Given the description of an element on the screen output the (x, y) to click on. 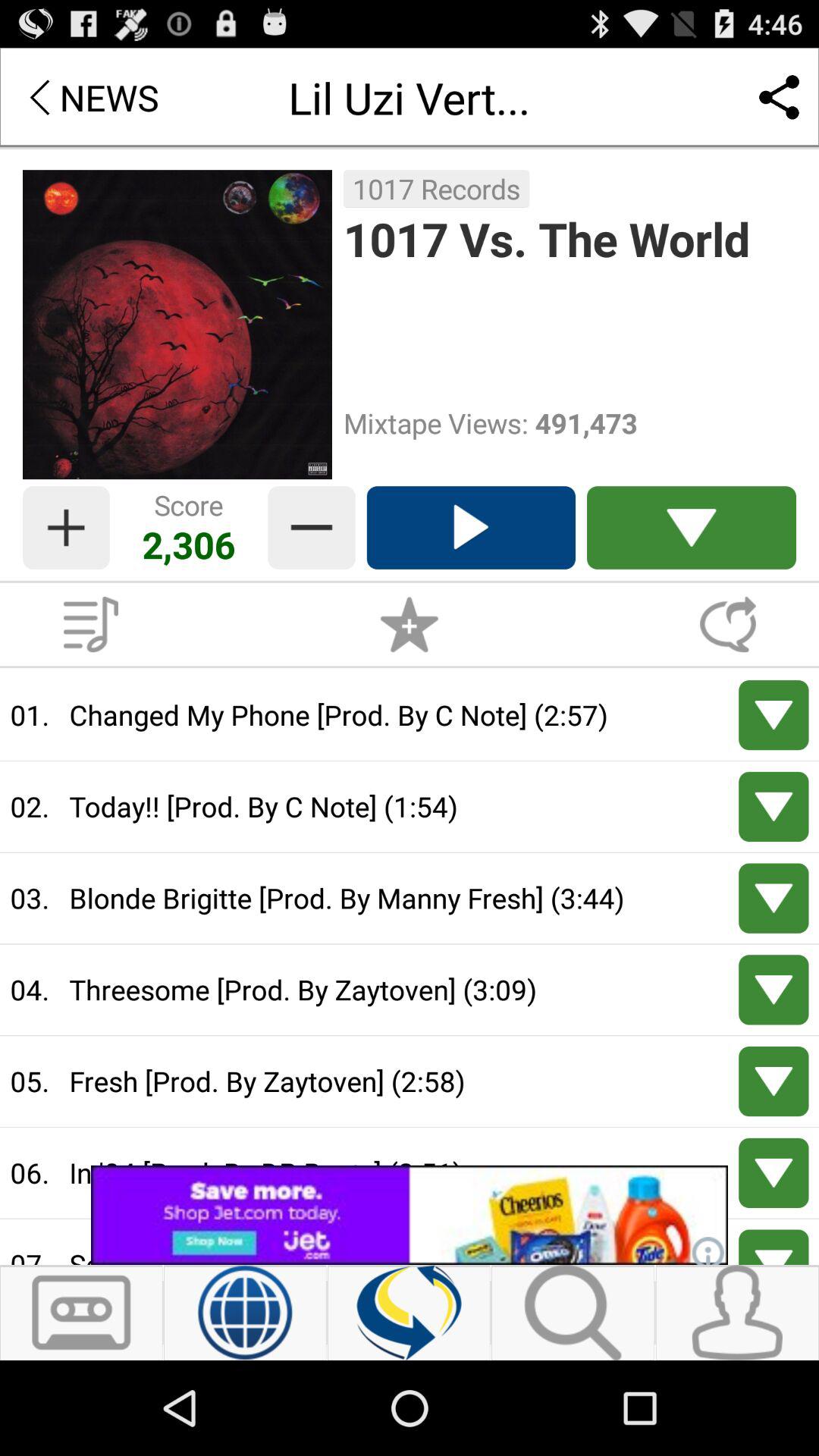
visit advertised site (409, 1214)
